Given the description of an element on the screen output the (x, y) to click on. 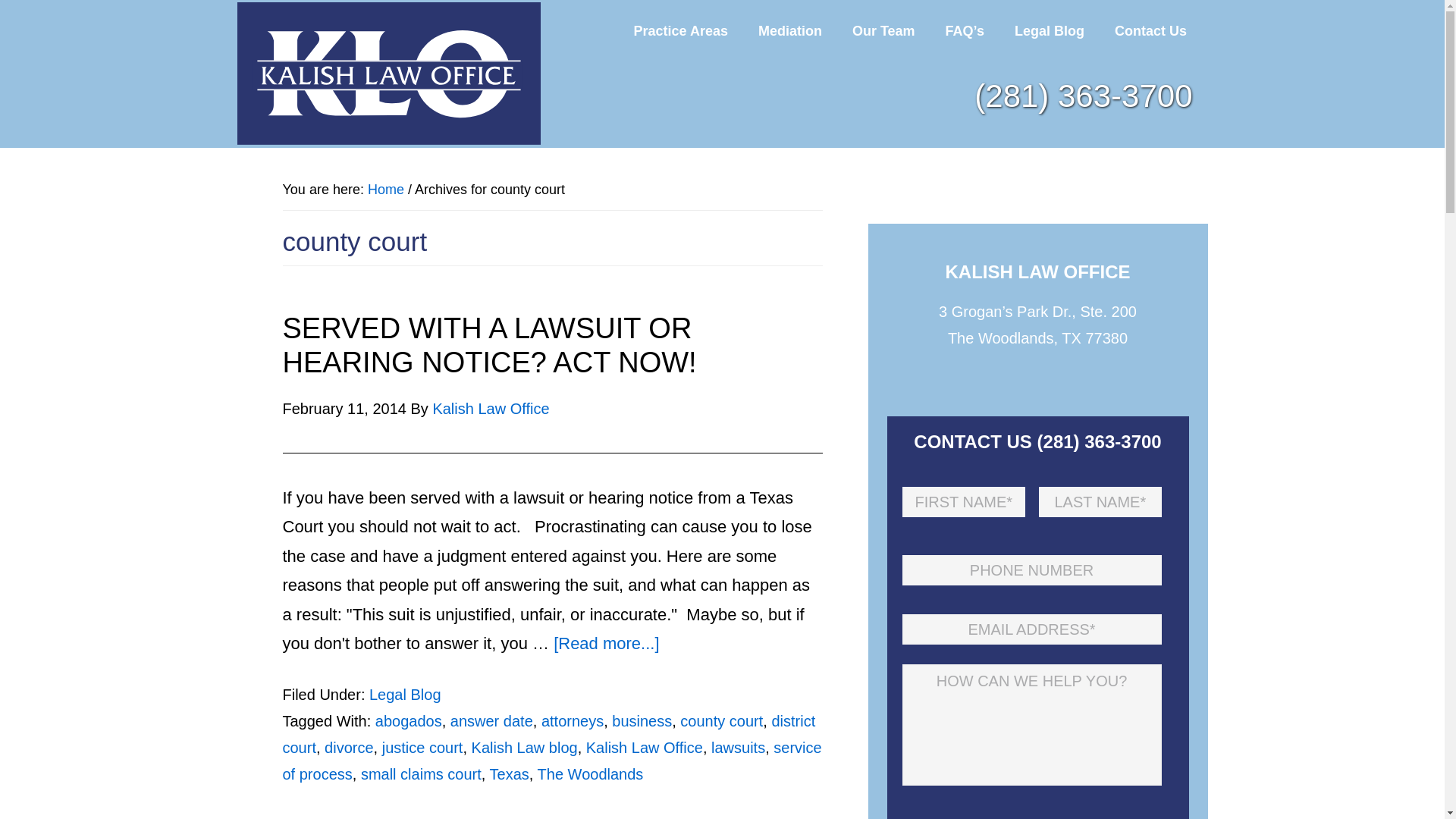
Practice Areas (680, 30)
KALISH LAW TEXAS (387, 73)
Our Team (883, 30)
Mediation (789, 30)
Legal Blog (1048, 30)
